Given the description of an element on the screen output the (x, y) to click on. 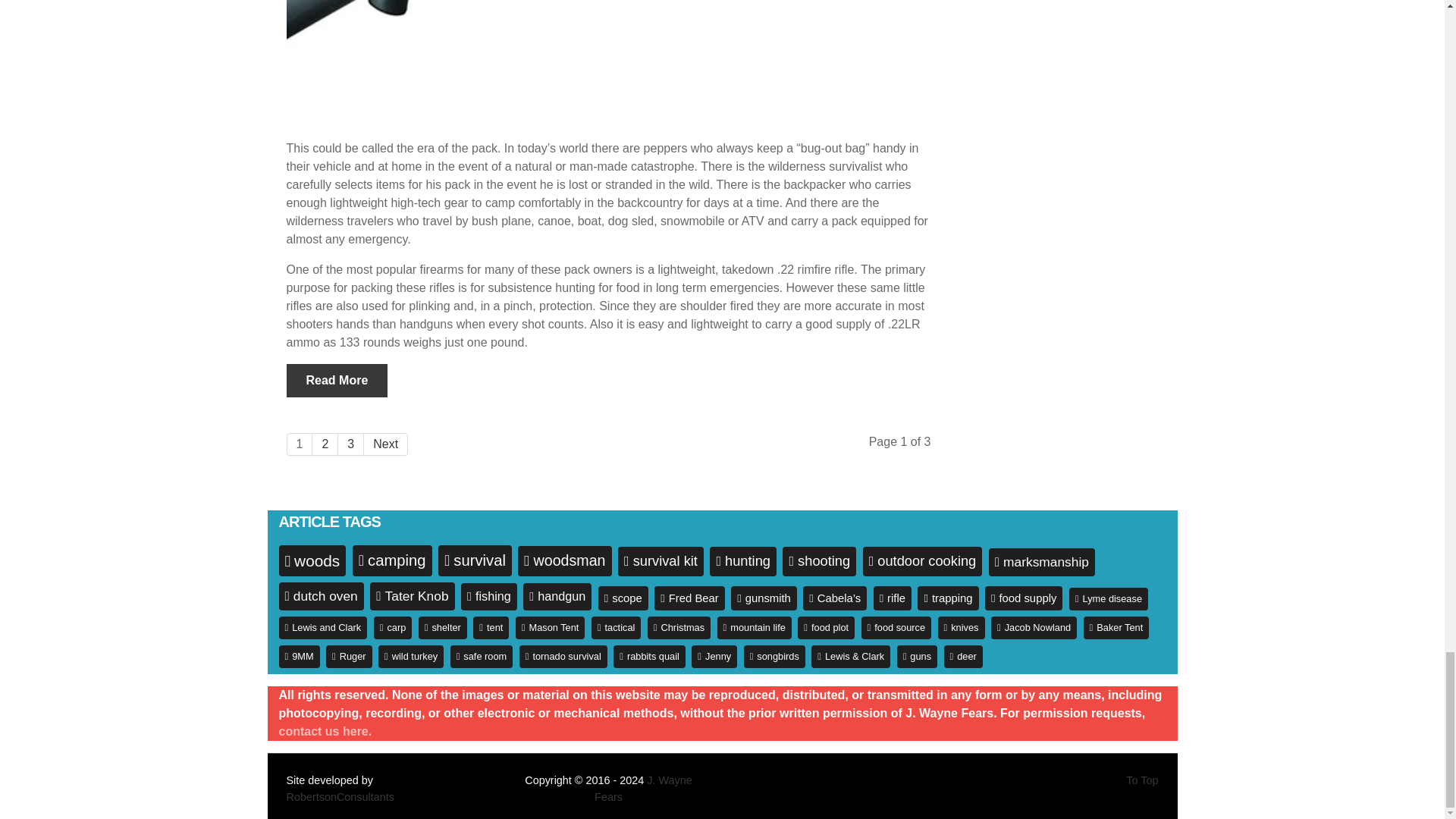
2 (325, 444)
3 (350, 444)
Next (385, 444)
Read More (337, 380)
